Given the description of an element on the screen output the (x, y) to click on. 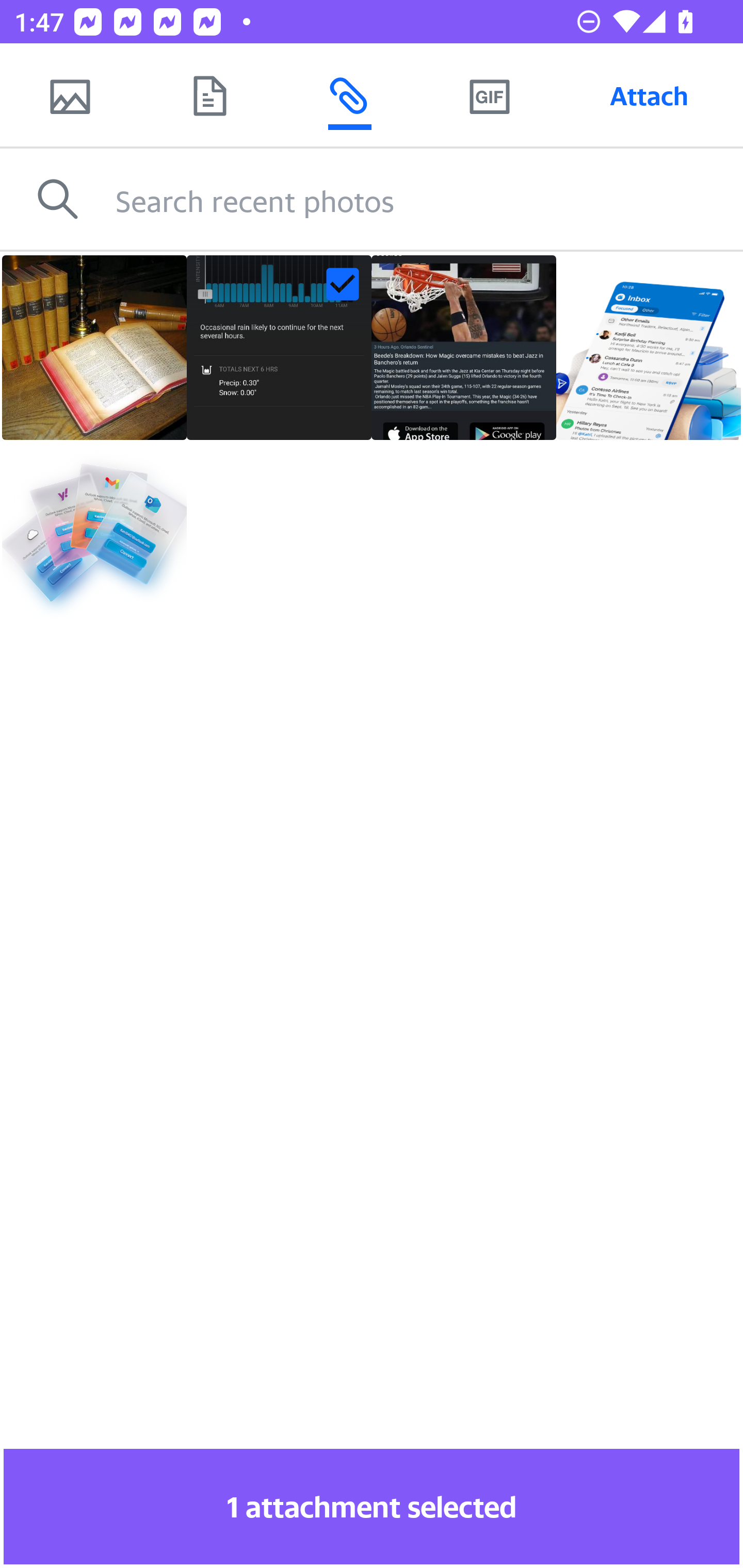
Camera photos (69, 95)
Device files (209, 95)
Recent attachments from mail (349, 95)
GIFs (489, 95)
Attach (649, 95)
Search recent photos (429, 198)
1280px-Latin_dictionary.jpg (94, 347)
image_20240305_1027737217200605633124.jpg (278, 347)
1758438839.jpg (463, 347)
wm-hero.png (648, 347)
wm-hero-mo.png (94, 532)
1 attachment selected (371, 1506)
